Given the description of an element on the screen output the (x, y) to click on. 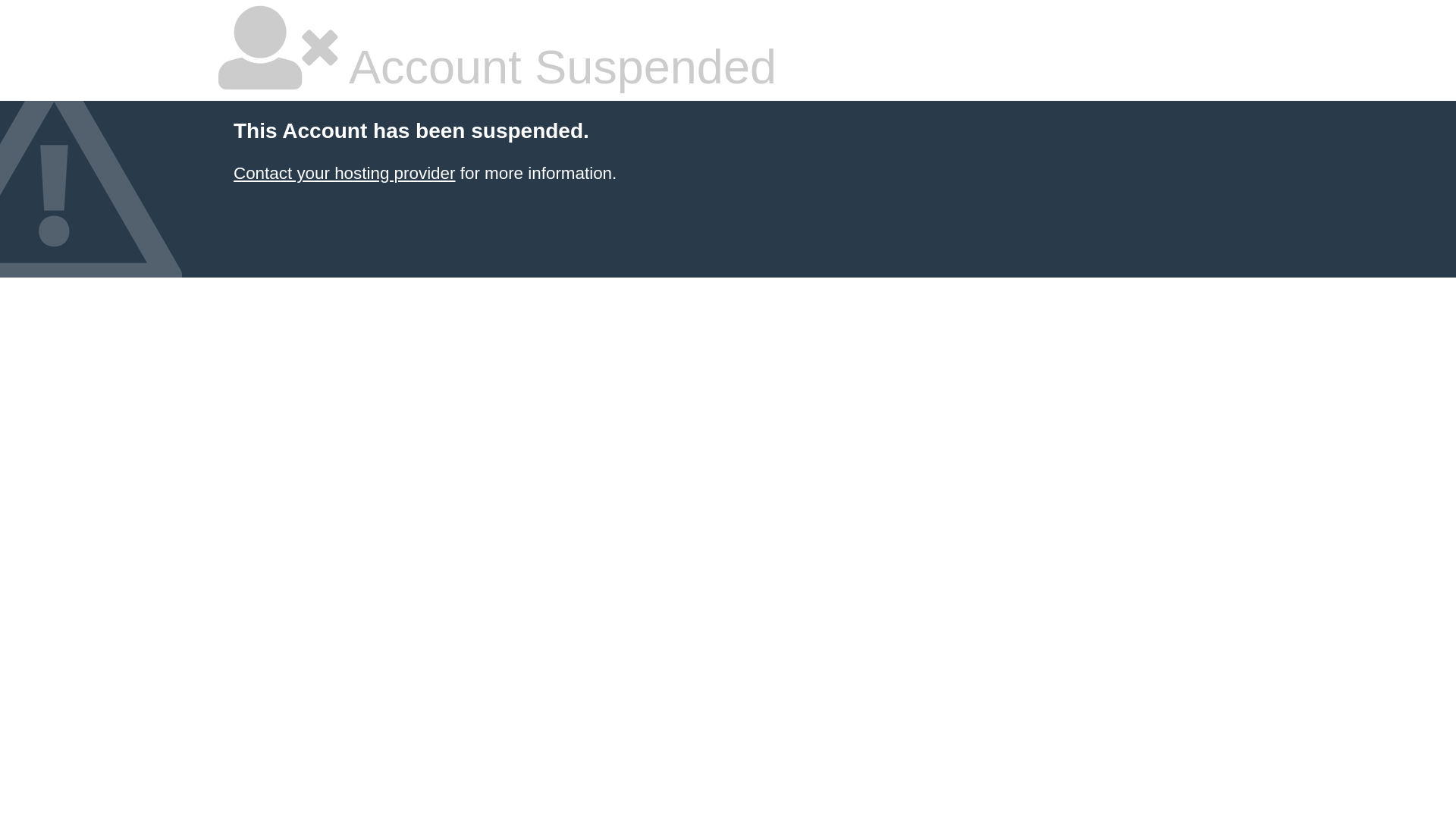
Contact your hosting provider Element type: text (344, 172)
